Given the description of an element on the screen output the (x, y) to click on. 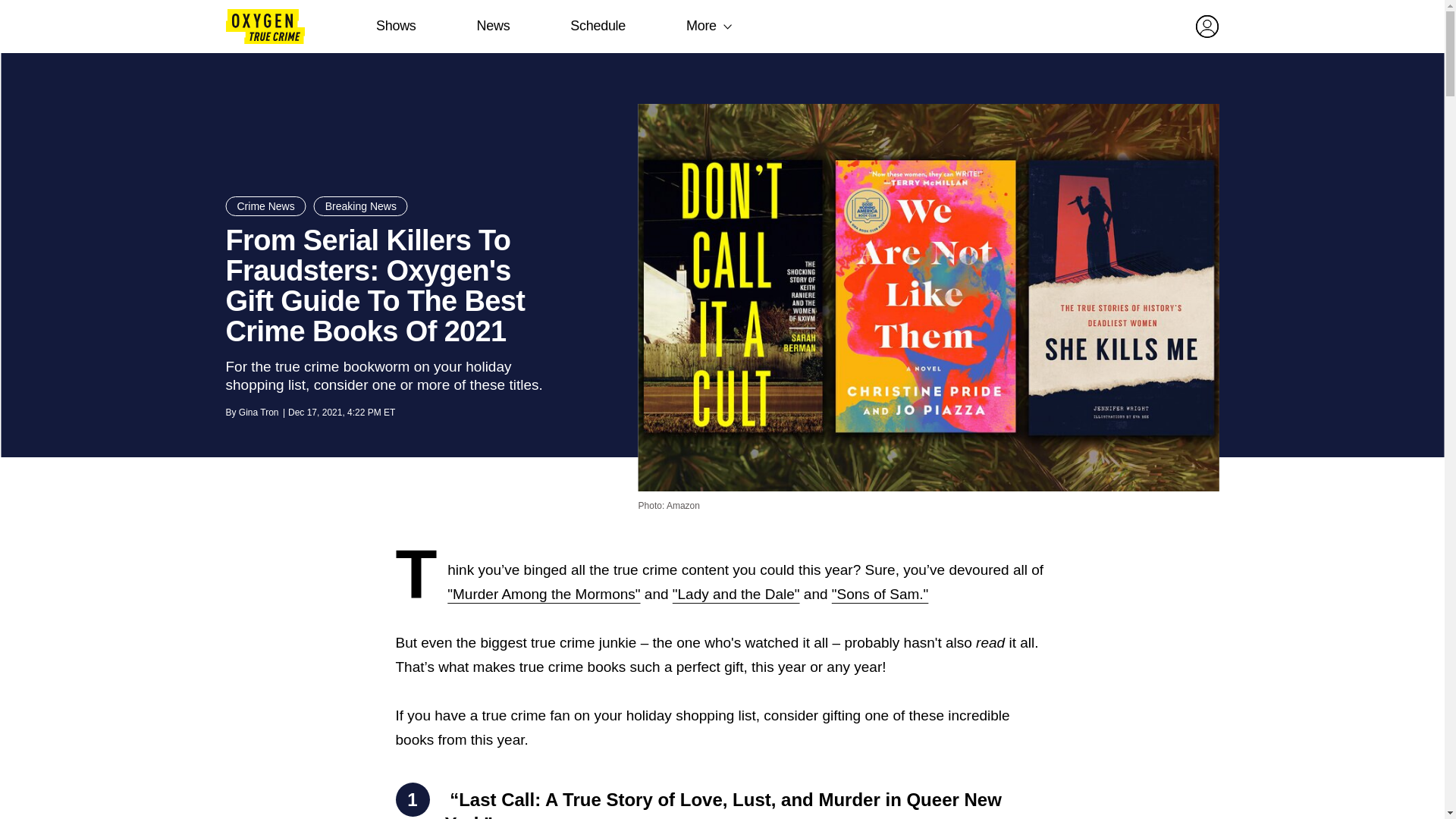
"Sons of Sam." (879, 593)
"Murder Among the Mormons" (543, 593)
Crime News (265, 206)
"Lady and the Dale" (735, 593)
News (492, 26)
Shows (395, 26)
Schedule (598, 26)
More (700, 26)
Gina Tron (258, 412)
Breaking News (360, 206)
